Given the description of an element on the screen output the (x, y) to click on. 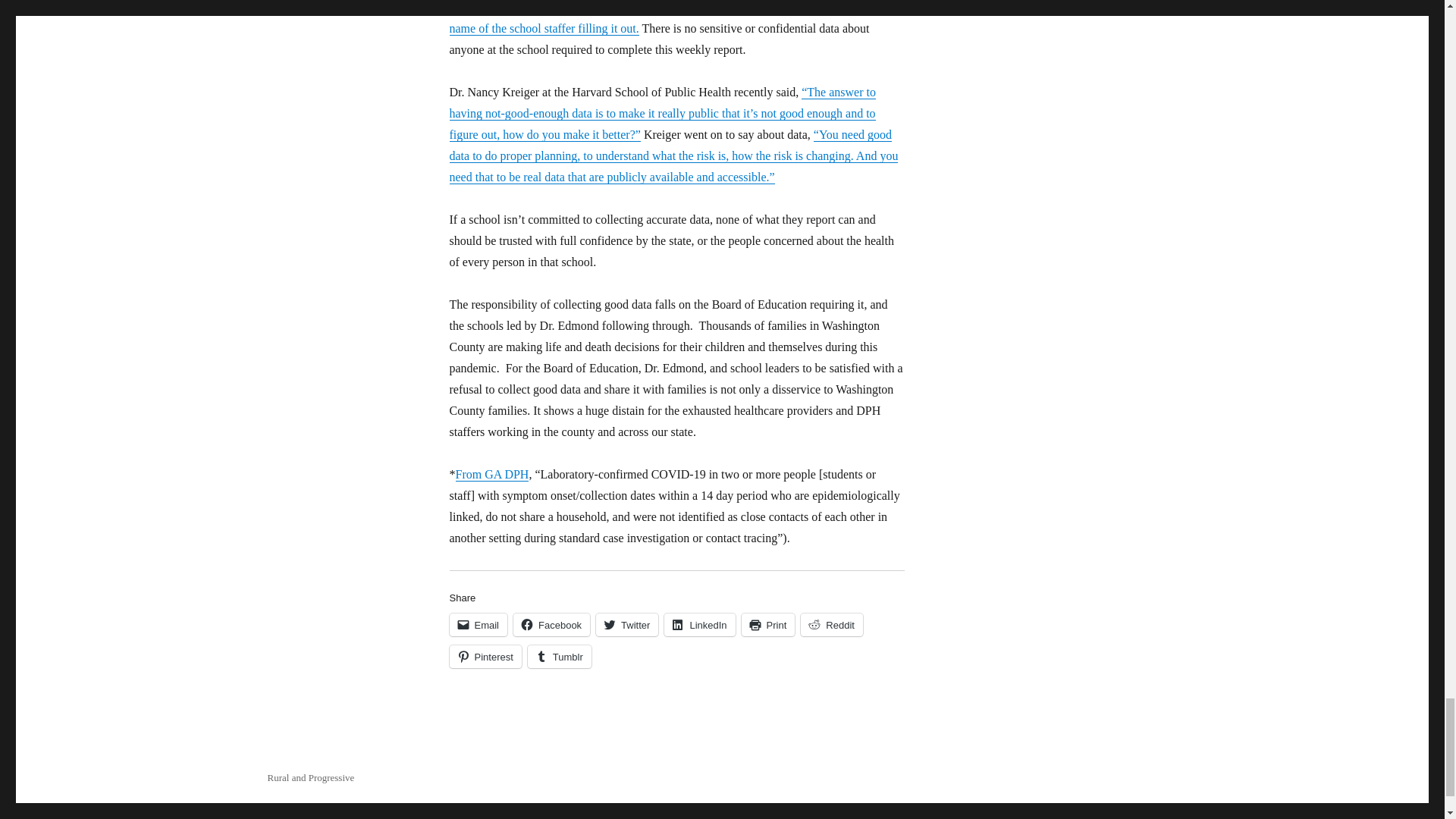
Click to print (767, 624)
Click to share on Twitter (626, 624)
Click to share on Reddit (831, 624)
Click to share on Facebook (551, 624)
Click to share on Pinterest (484, 656)
Click to email a link to a friend (477, 624)
Click to share on LinkedIn (699, 624)
